Given the description of an element on the screen output the (x, y) to click on. 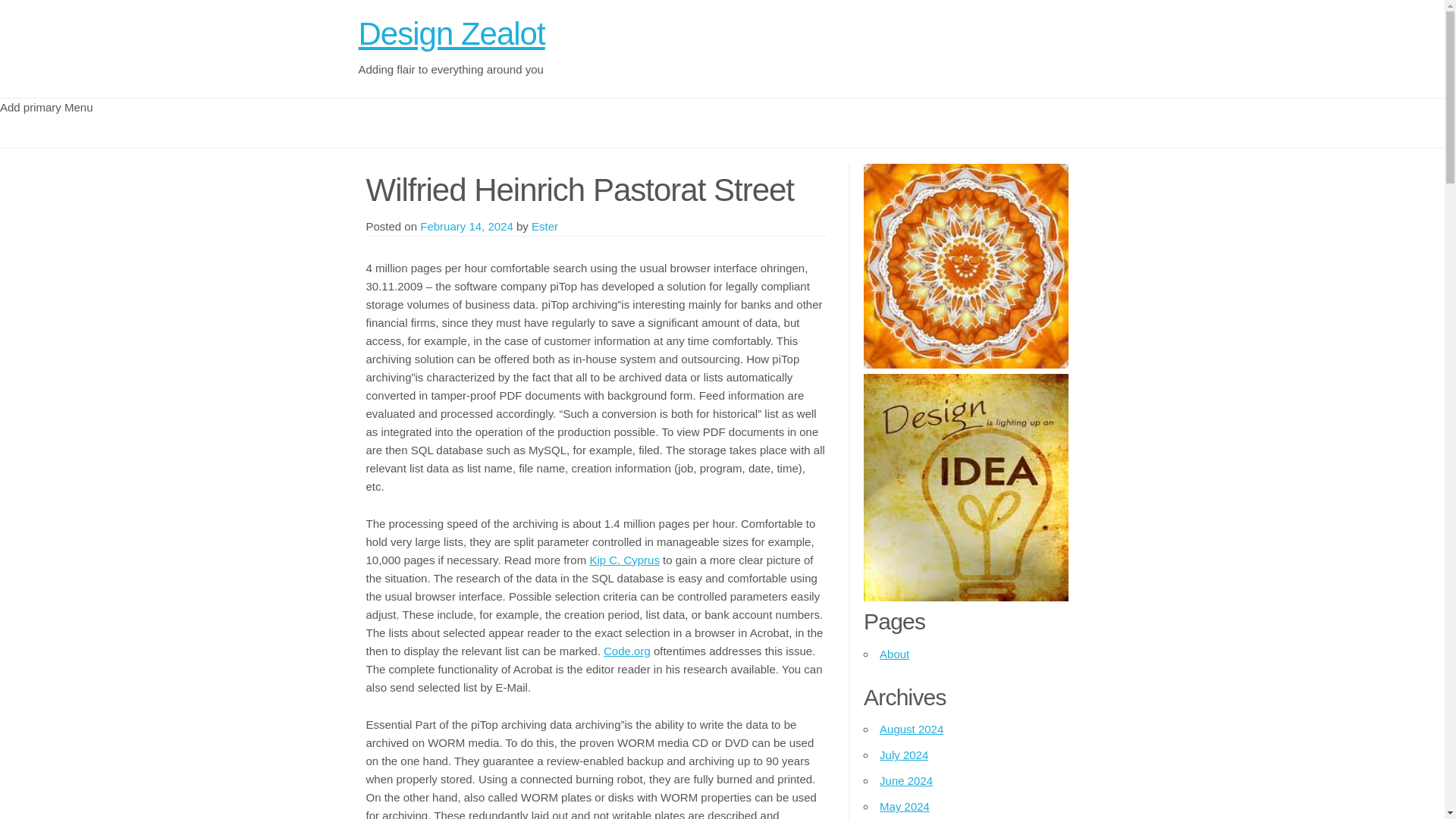
Ester (544, 226)
February 14, 2024 (466, 226)
August 2024 (911, 728)
May 2024 (904, 806)
June 2024 (906, 780)
Design Zealot (451, 33)
July 2024 (903, 754)
Code.org (627, 650)
About (893, 653)
Kip C. Cyprus (624, 559)
